Given the description of an element on the screen output the (x, y) to click on. 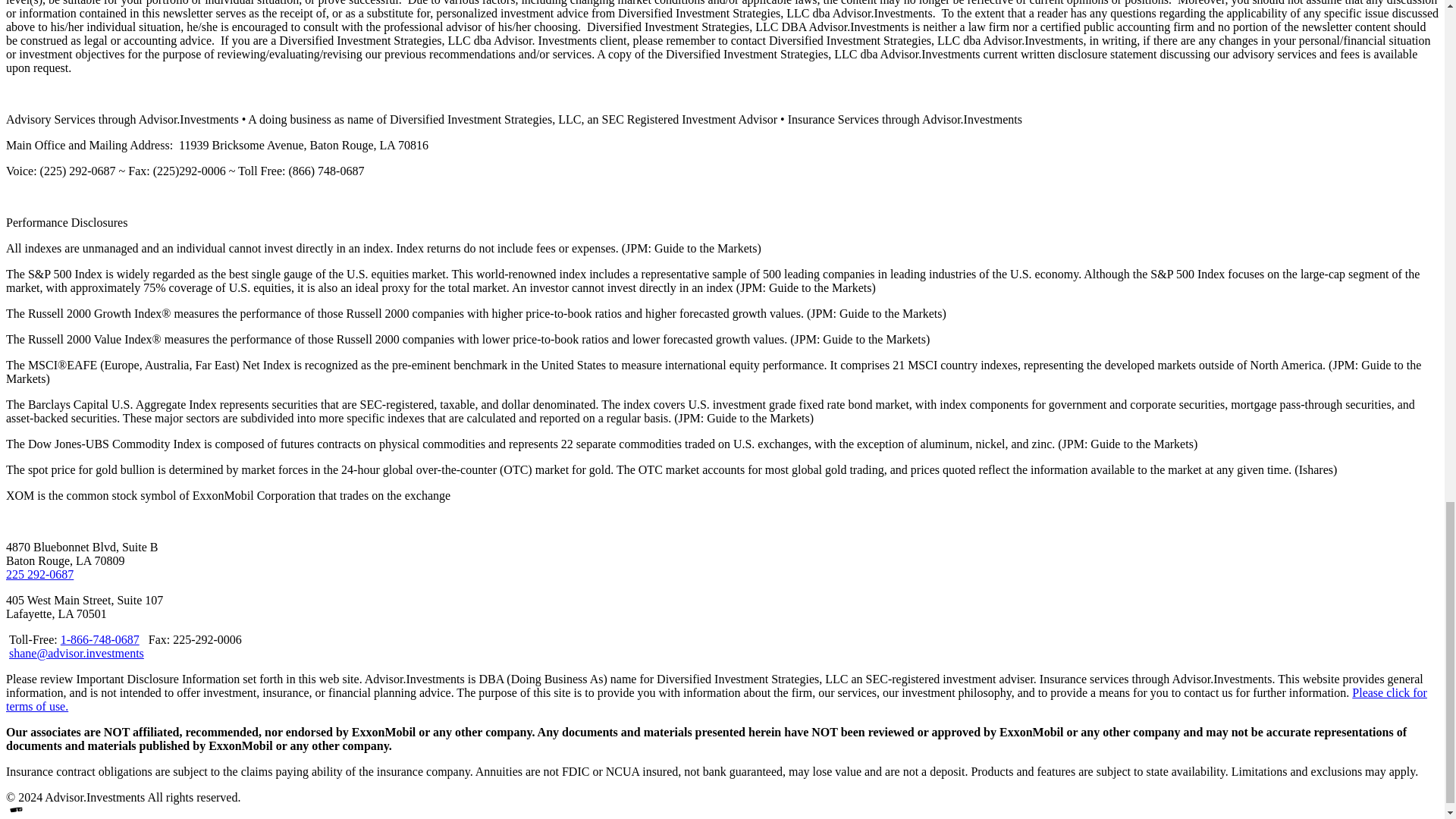
Important Disclosure Information (715, 699)
Please click for terms of use. (715, 699)
1-866-748-0687 (100, 639)
225 292-0687 (39, 574)
